Given the description of an element on the screen output the (x, y) to click on. 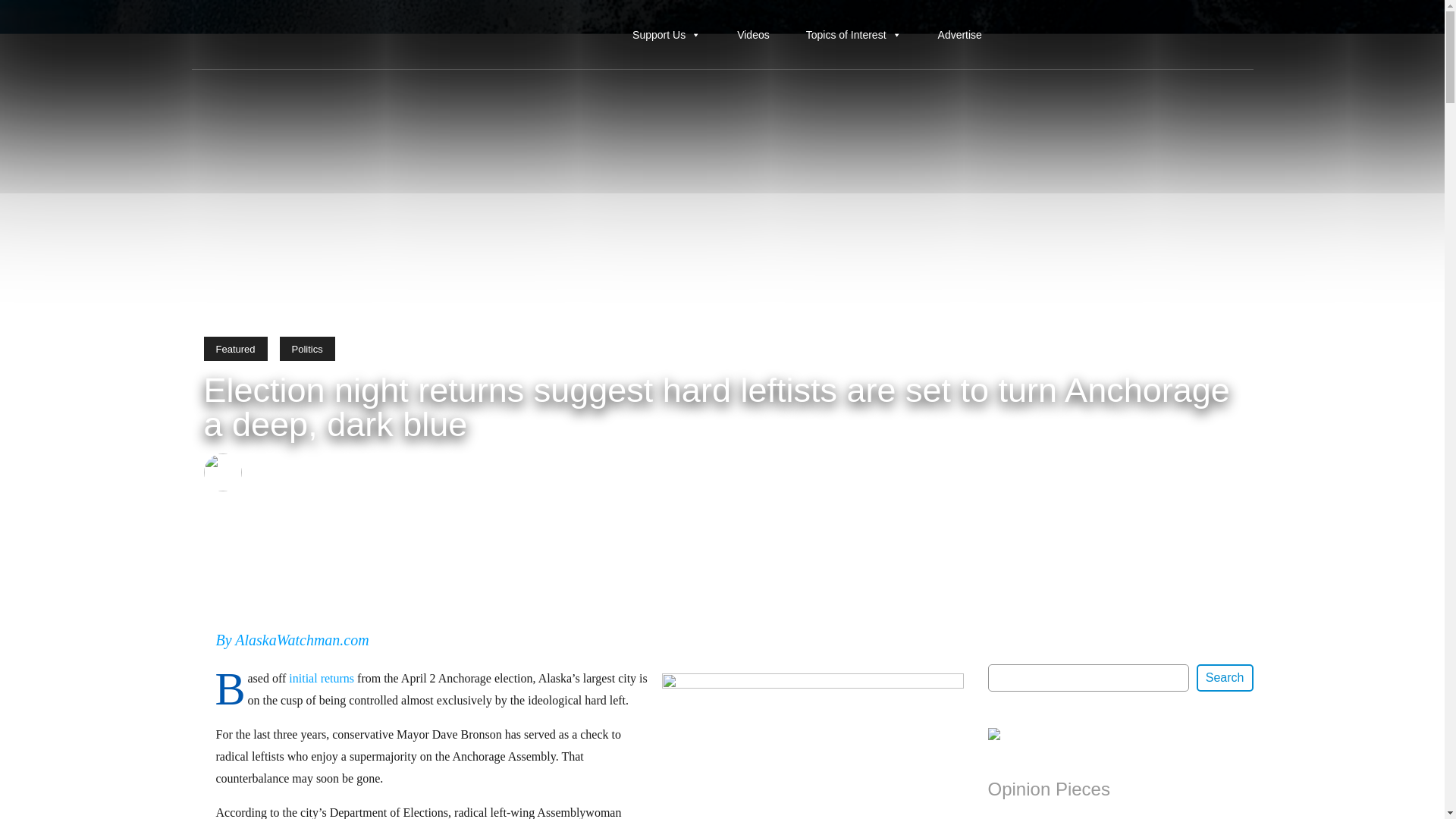
Support Us (665, 34)
Videos (753, 34)
Advertise (960, 34)
Topics of Interest (852, 34)
